Given the description of an element on the screen output the (x, y) to click on. 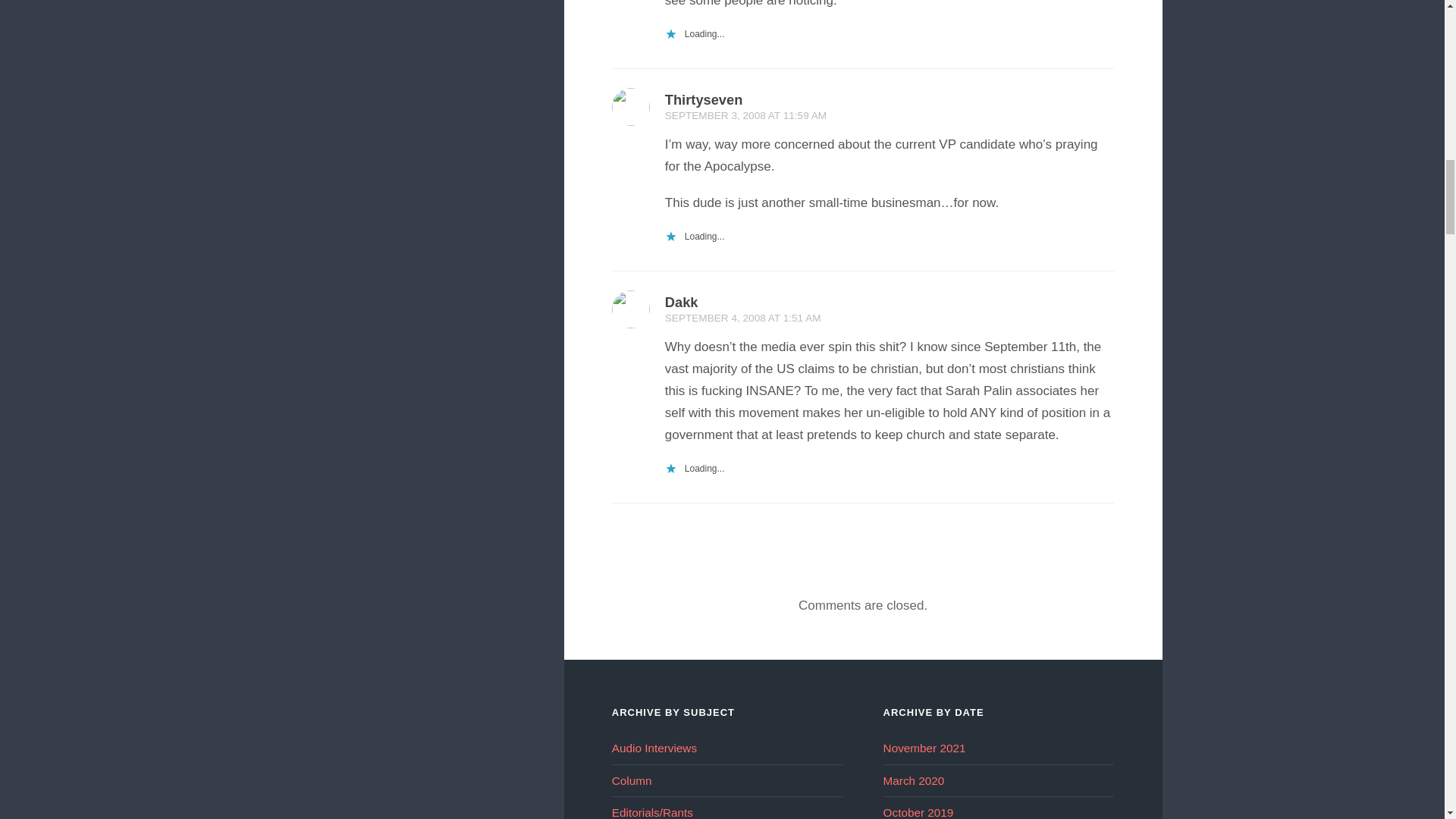
Thirtyseven (703, 99)
Audio Interviews (654, 748)
SEPTEMBER 3, 2008 AT 11:59 AM (746, 115)
Column (631, 780)
SEPTEMBER 4, 2008 AT 1:51 AM (743, 317)
